Given the description of an element on the screen output the (x, y) to click on. 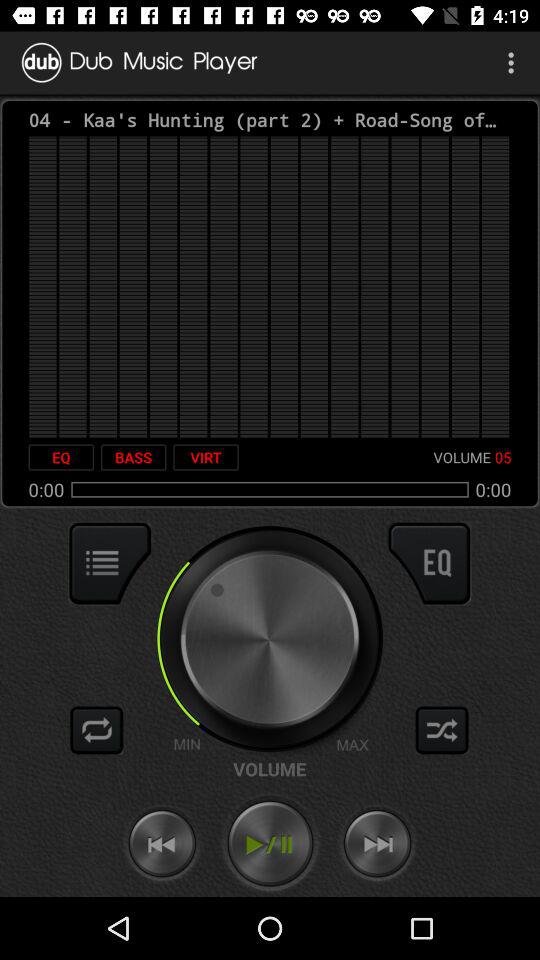
choose the  bass  item (133, 457)
